Given the description of an element on the screen output the (x, y) to click on. 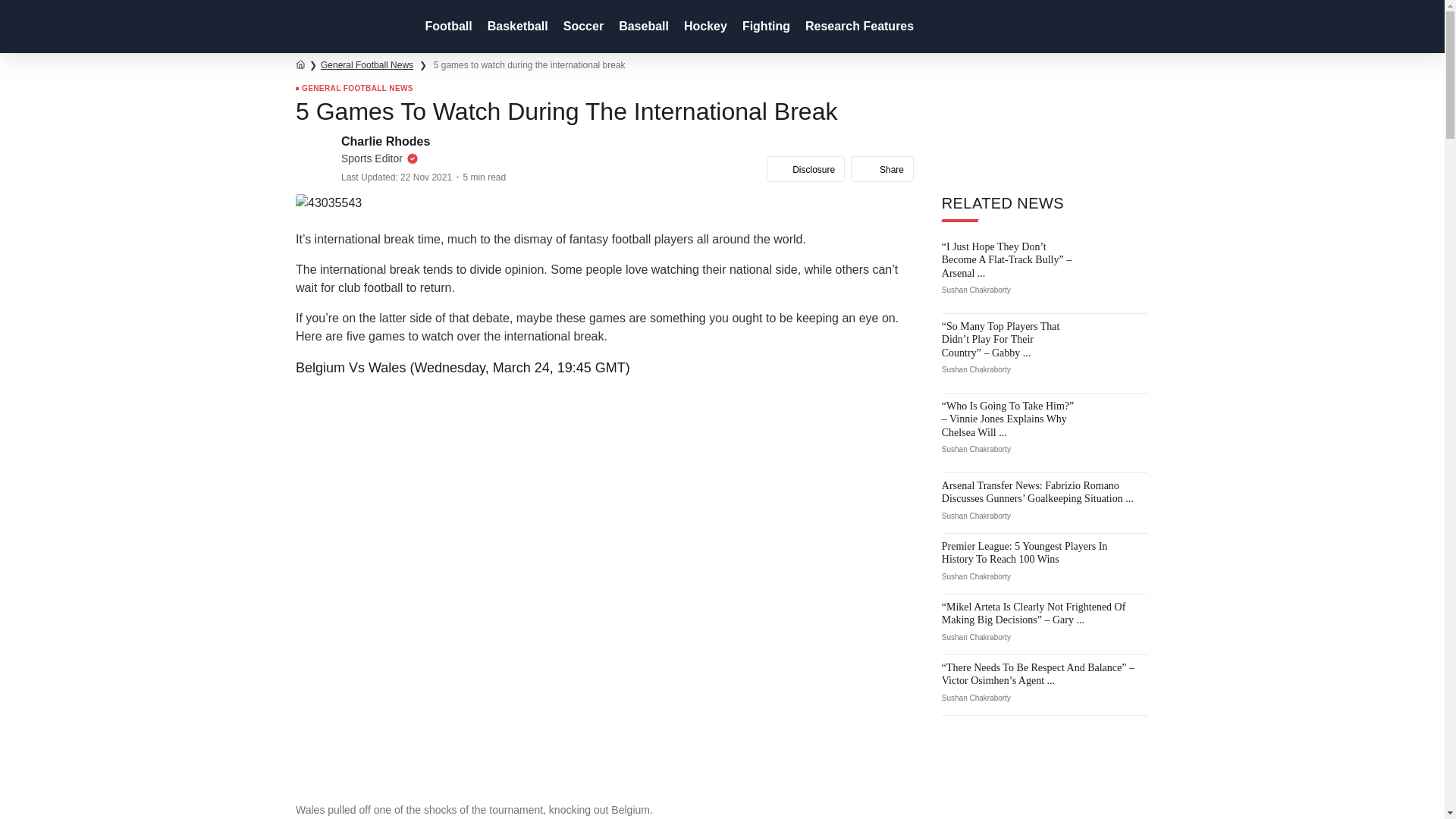
Share (882, 168)
GENERAL FOOTBALL NEWS (354, 88)
Basketball (516, 26)
Baseball (642, 26)
General Football News (366, 64)
Research Features (858, 26)
Charlie Rhodes (386, 141)
Hockey (704, 26)
Football (445, 26)
